Given the description of an element on the screen output the (x, y) to click on. 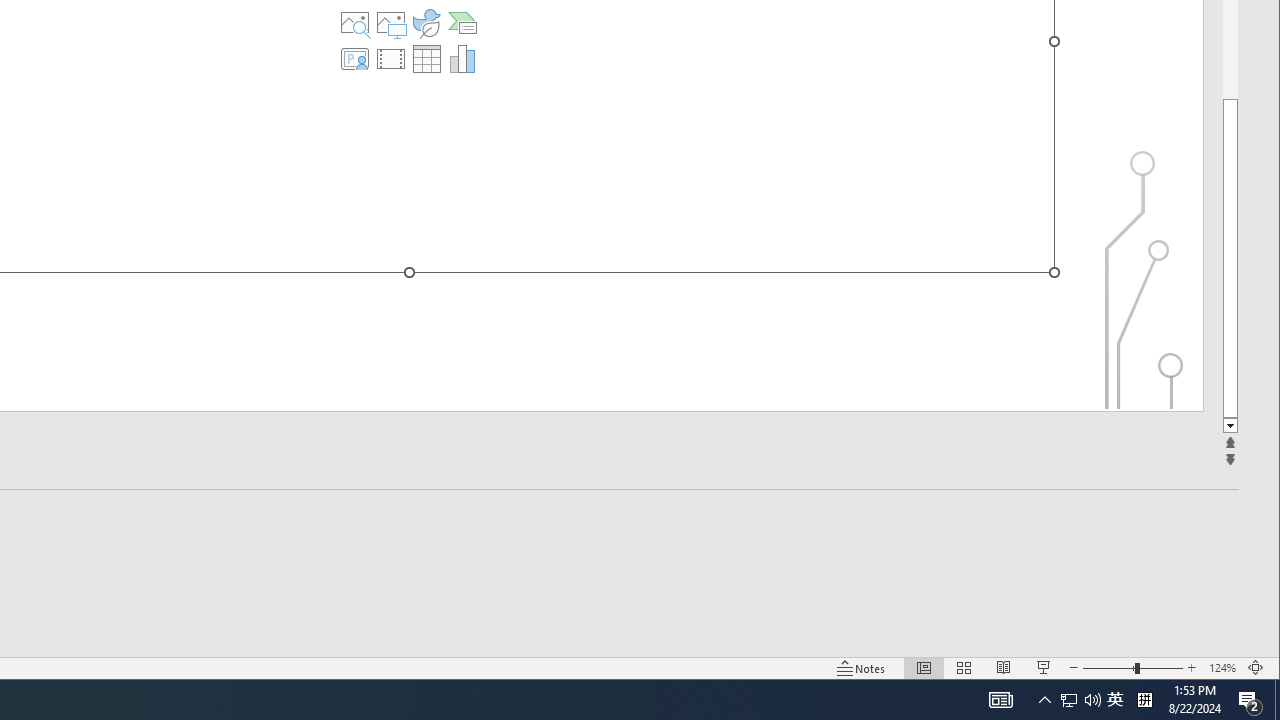
Zoom 124% (1222, 668)
Insert a SmartArt Graphic (462, 22)
